Given the description of an element on the screen output the (x, y) to click on. 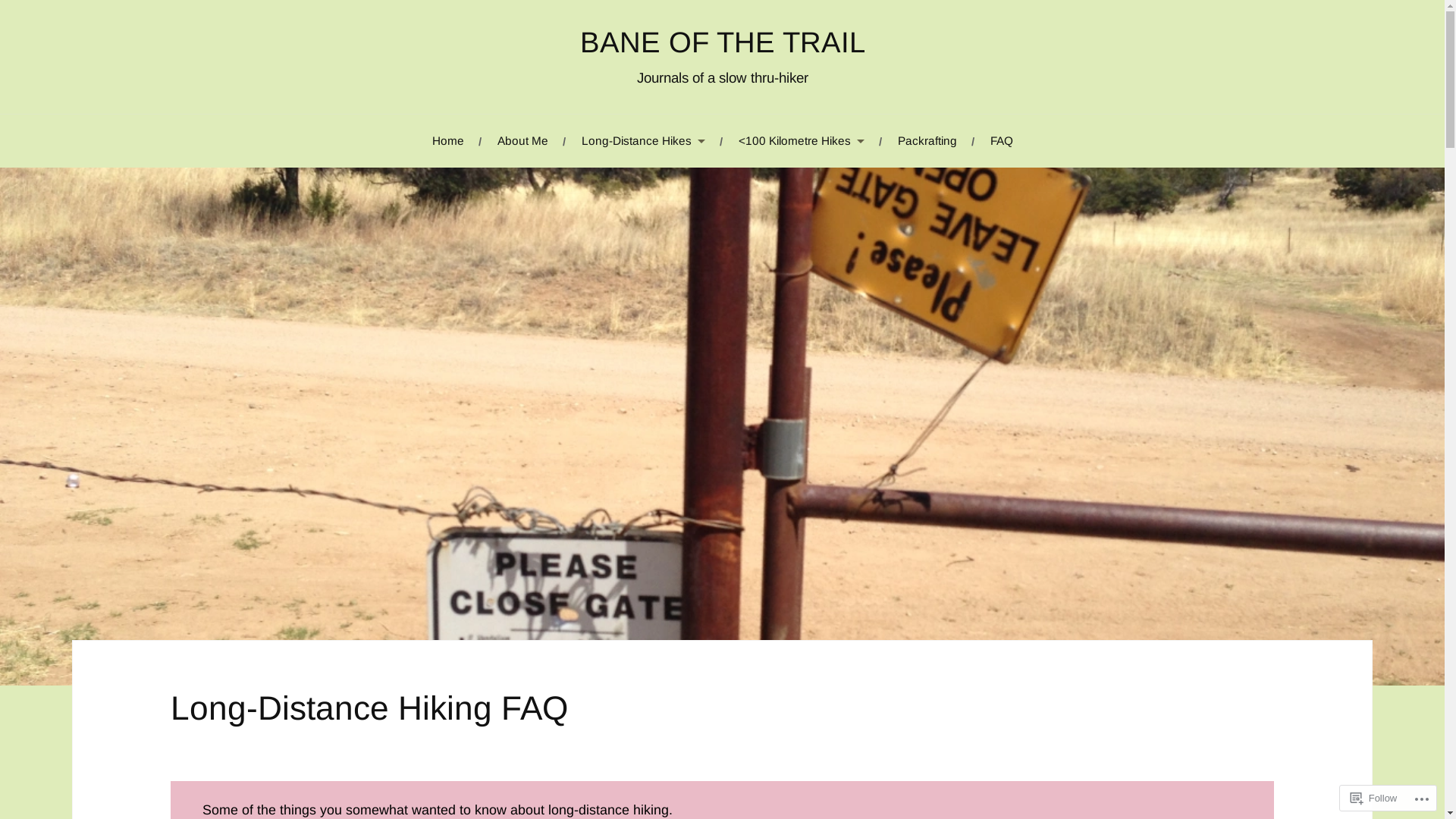
Home Element type: text (448, 140)
BANE OF THE TRAIL Element type: text (721, 41)
<100 Kilometre Hikes Element type: text (801, 140)
FAQ Element type: text (1001, 140)
About Me Element type: text (522, 140)
Long-Distance Hikes Element type: text (642, 140)
Follow Element type: text (1373, 797)
Packrafting Element type: text (927, 140)
